Given the description of an element on the screen output the (x, y) to click on. 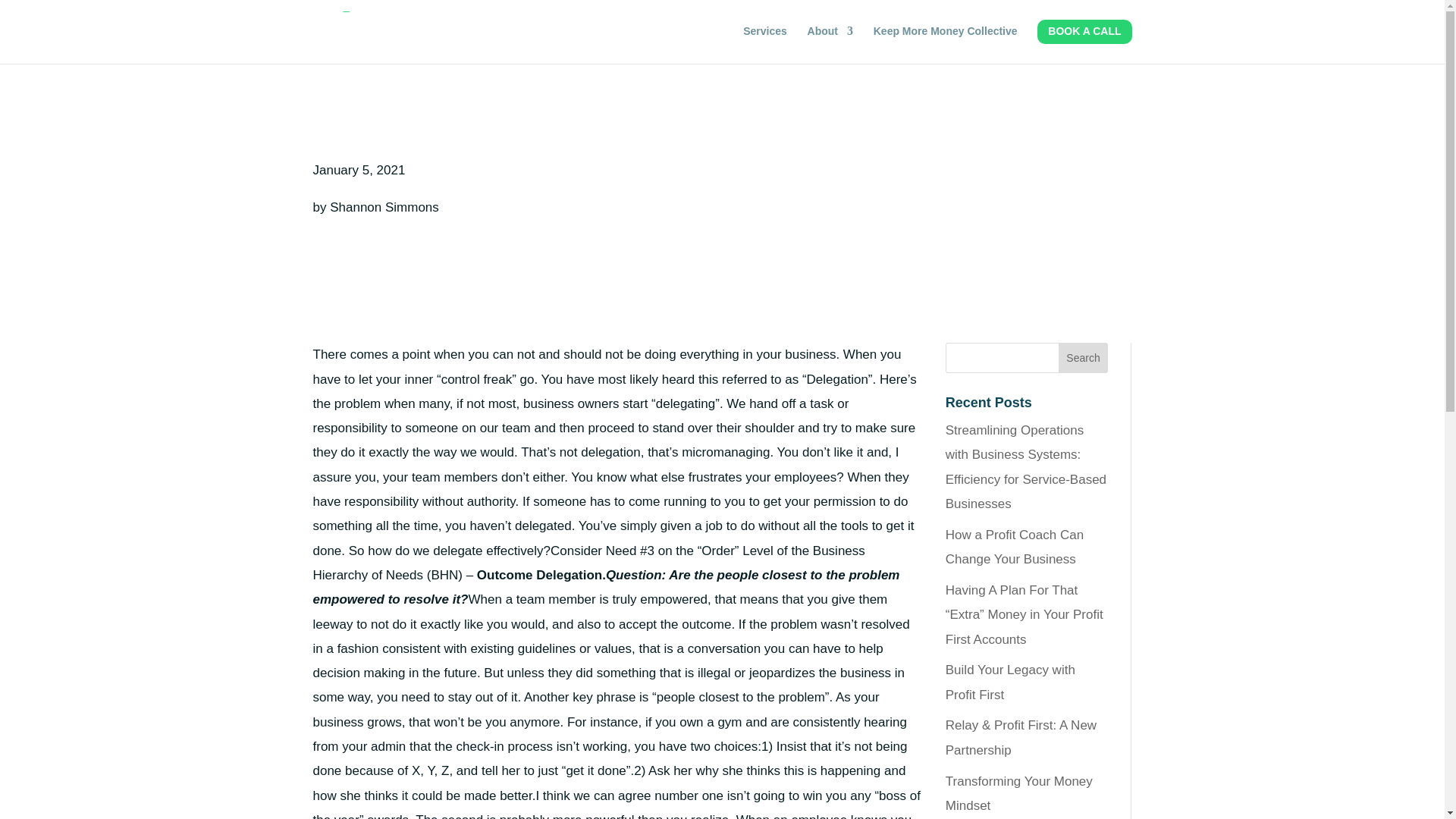
Search (1083, 358)
Search (1083, 358)
Services (764, 40)
How a Profit Coach Can Change Your Business (1013, 546)
Transforming Your Money Mindset (1018, 793)
Build Your Legacy with Profit First (1009, 681)
BOOK A CALL (1083, 41)
Keep More Money Collective (945, 40)
About (830, 40)
